Given the description of an element on the screen output the (x, y) to click on. 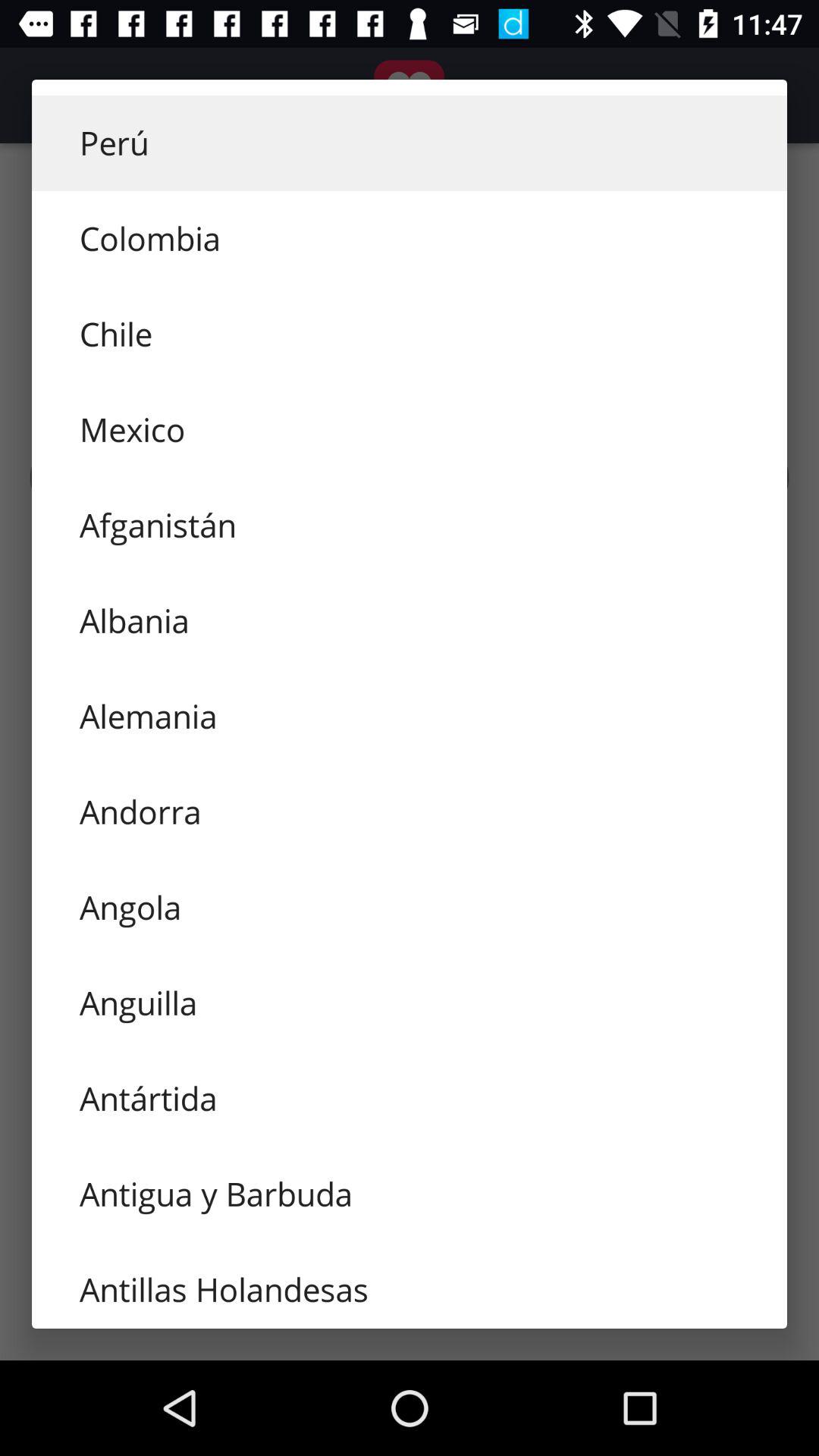
turn off angola icon (409, 907)
